Given the description of an element on the screen output the (x, y) to click on. 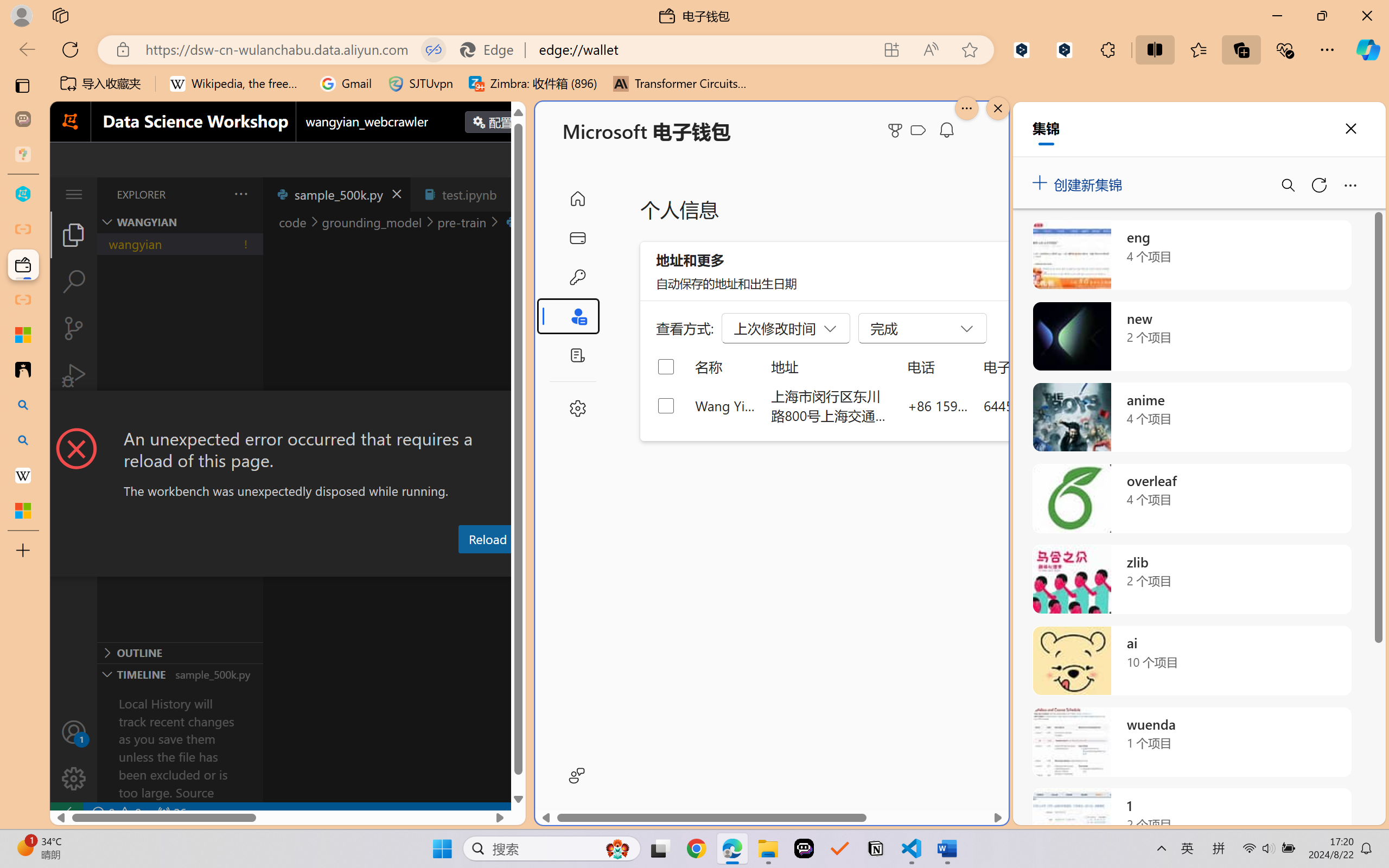
Manage (73, 778)
Run and Debug (Ctrl+Shift+D) (73, 375)
Output (Ctrl+Shift+U) (377, 565)
Wikipedia, the free encyclopedia (236, 83)
Debug Console (Ctrl+Shift+Y) (463, 565)
Tab actions (512, 194)
Transformer Circuits Thread (680, 83)
